Given the description of an element on the screen output the (x, y) to click on. 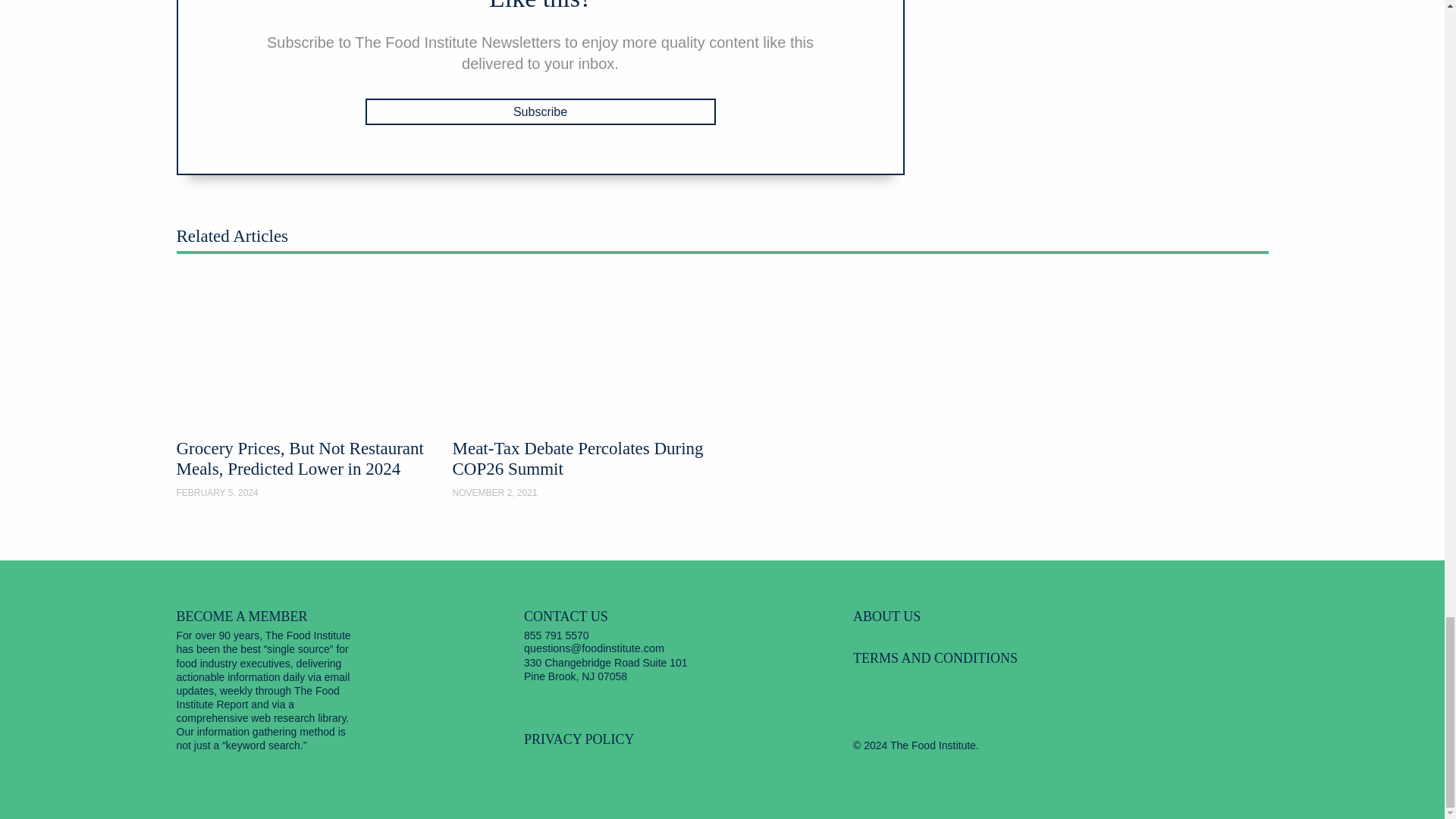
Meat-Tax Debate Percolates During COP26 Summit (583, 388)
